Given the description of an element on the screen output the (x, y) to click on. 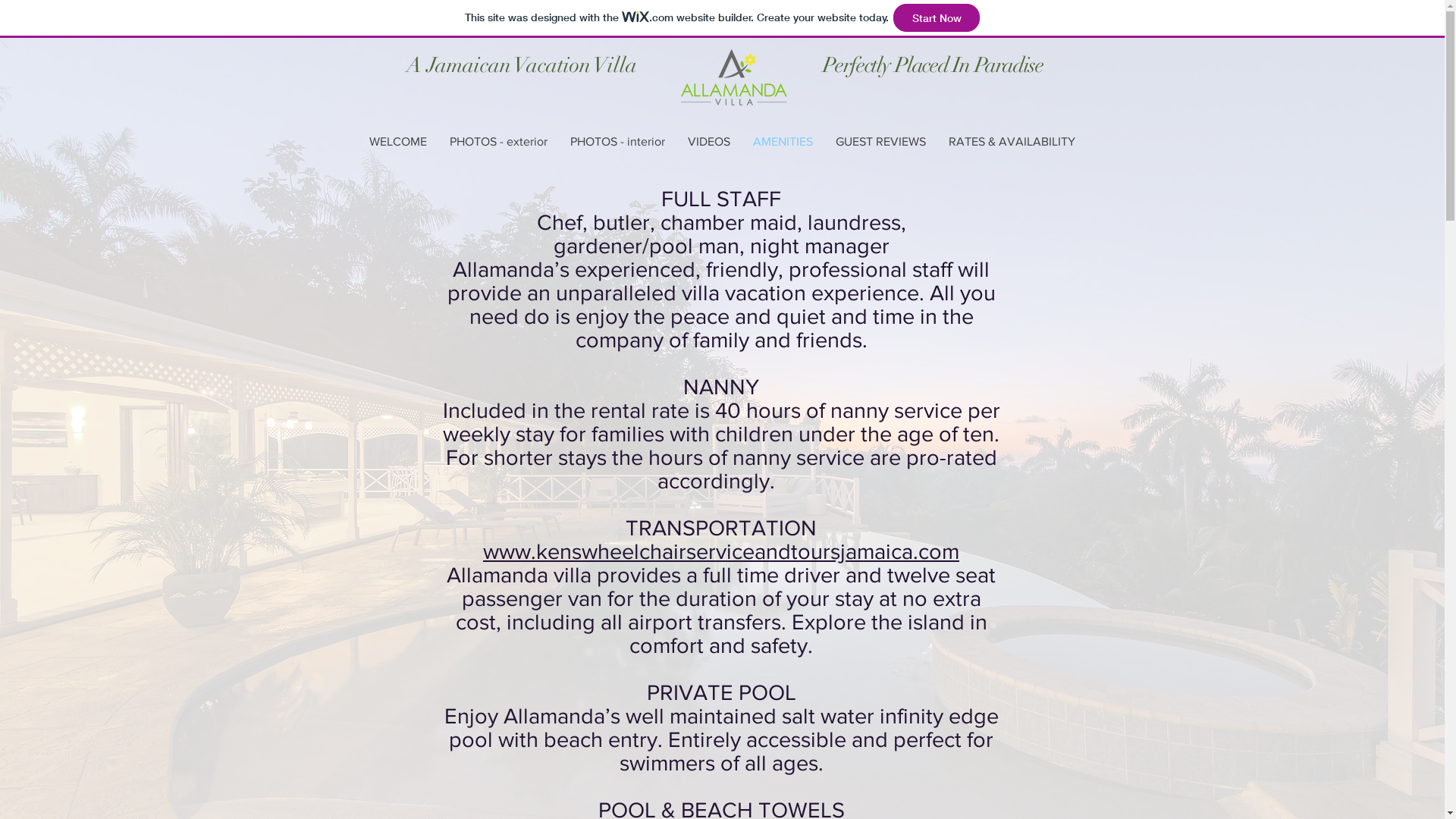
AMENITIES Element type: text (782, 140)
PHOTOS - interior Element type: text (616, 140)
VIDEOS Element type: text (708, 140)
RATES & AVAILABILITY Element type: text (1011, 140)
PHOTOS - exterior Element type: text (498, 140)
WELCOME Element type: text (397, 140)
GUEST REVIEWS Element type: text (879, 140)
www.kenswheelchairserviceandtoursjamaica.com Element type: text (721, 551)
